Given the description of an element on the screen output the (x, y) to click on. 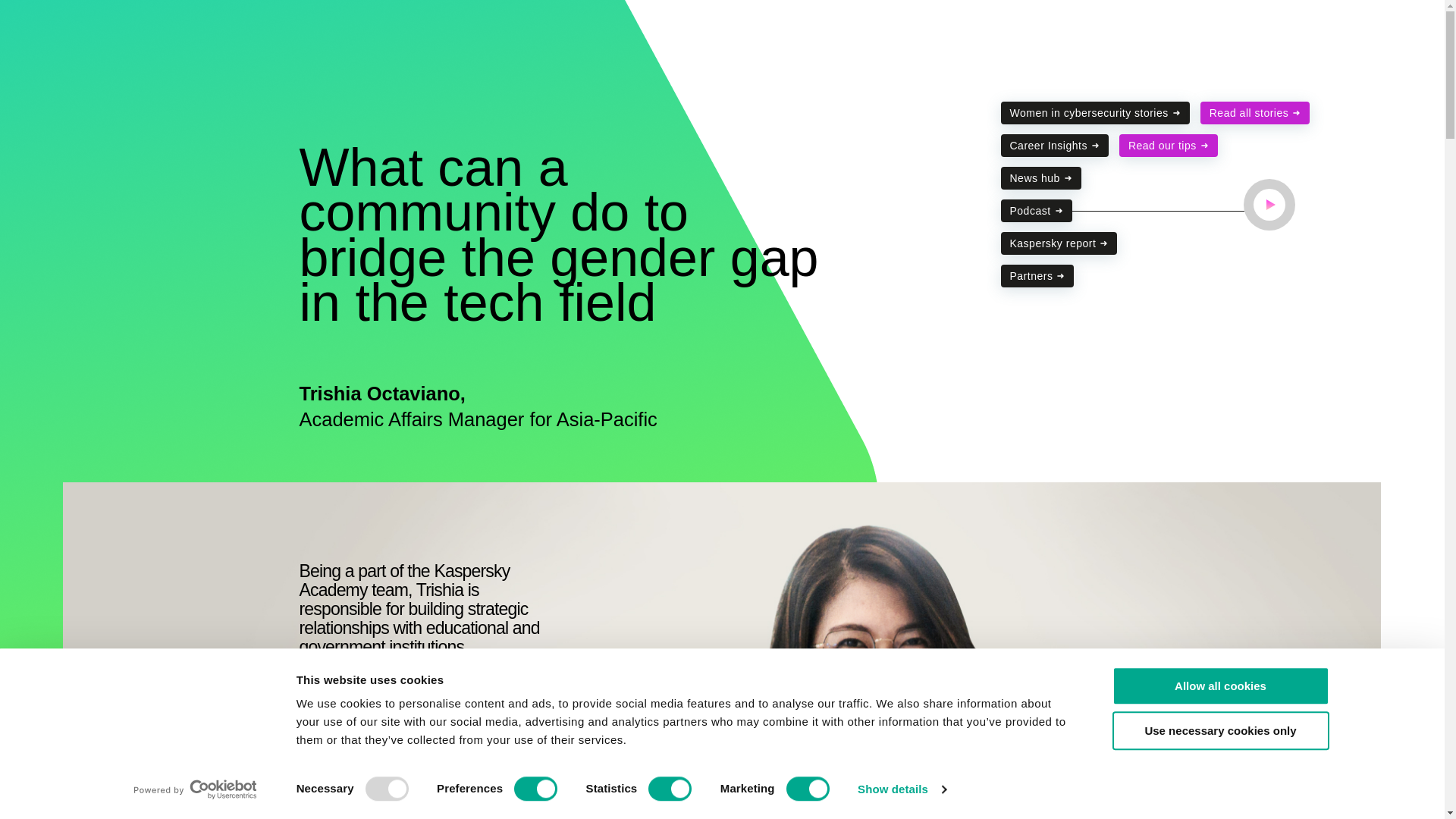
Show details (900, 789)
